Given the description of an element on the screen output the (x, y) to click on. 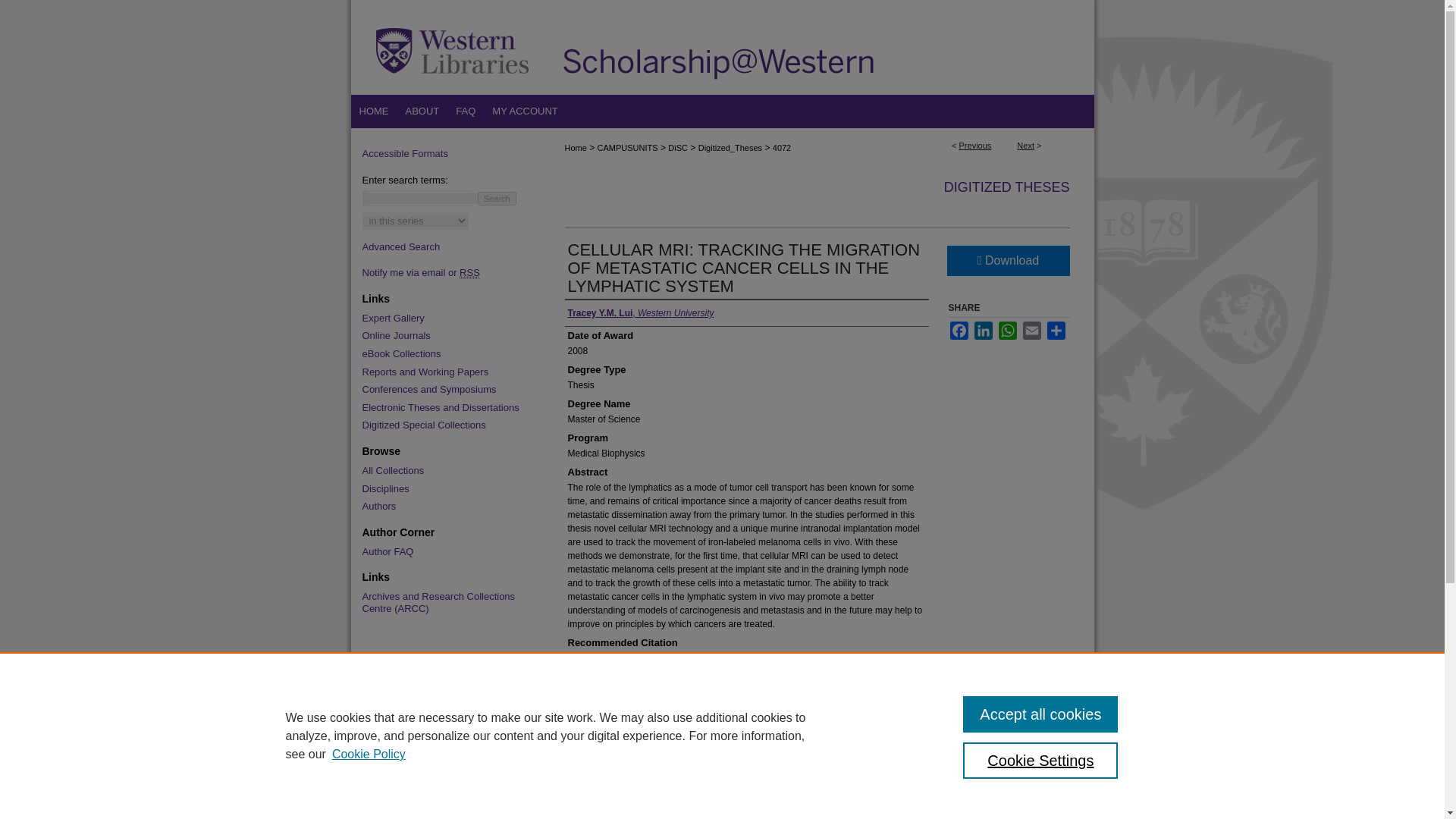
Facebook (958, 330)
Search (496, 198)
FAQ (464, 111)
Accessible Formats (447, 153)
ABOUT (422, 111)
LinkedIn (982, 330)
HOME (373, 111)
Adobe - Adobe Reader download (817, 723)
Portable Document Format (875, 767)
MY ACCOUNT (524, 111)
Search (496, 198)
Expert Gallery (447, 318)
Really Simple Syndication (470, 272)
Search (496, 198)
